Given the description of an element on the screen output the (x, y) to click on. 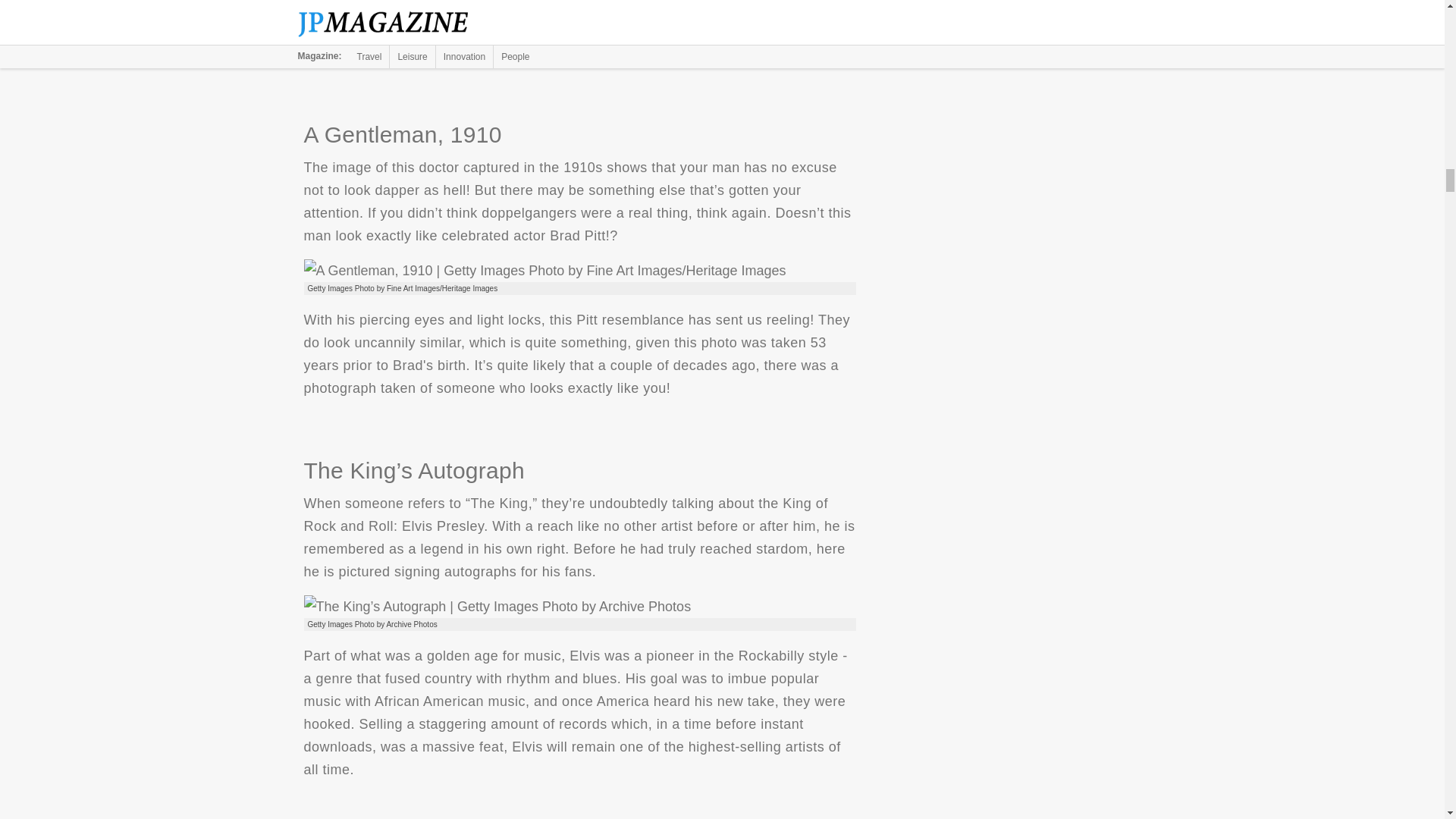
A Gentleman, 1910 (544, 270)
